Given the description of an element on the screen output the (x, y) to click on. 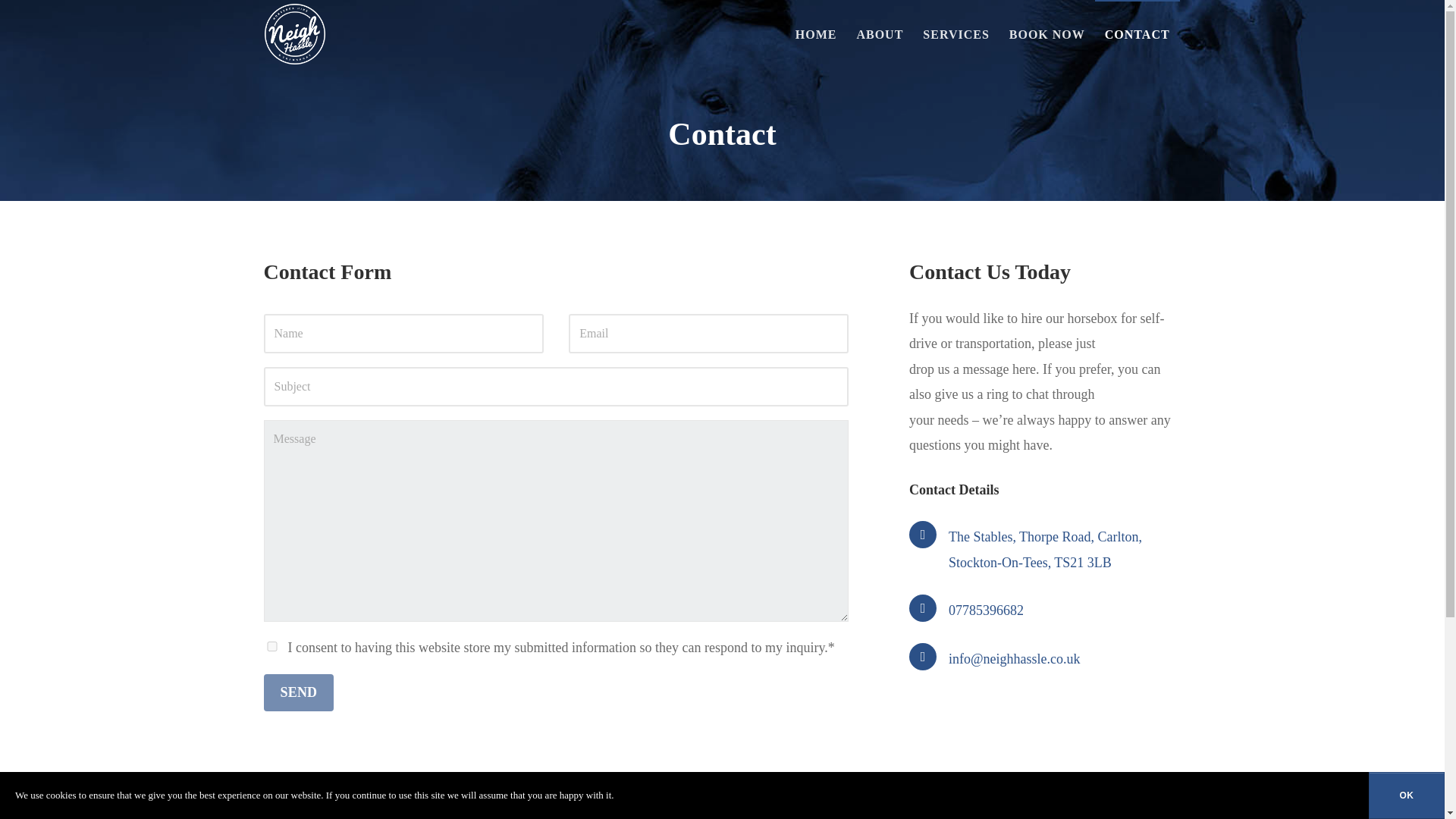
SEND (298, 692)
CONTACT (1136, 33)
ABOUT (878, 33)
View Map (1045, 549)
BOOK NOW (1046, 33)
HOME (816, 33)
on (272, 646)
07785396682 (986, 610)
SERVICES (955, 33)
